Given the description of an element on the screen output the (x, y) to click on. 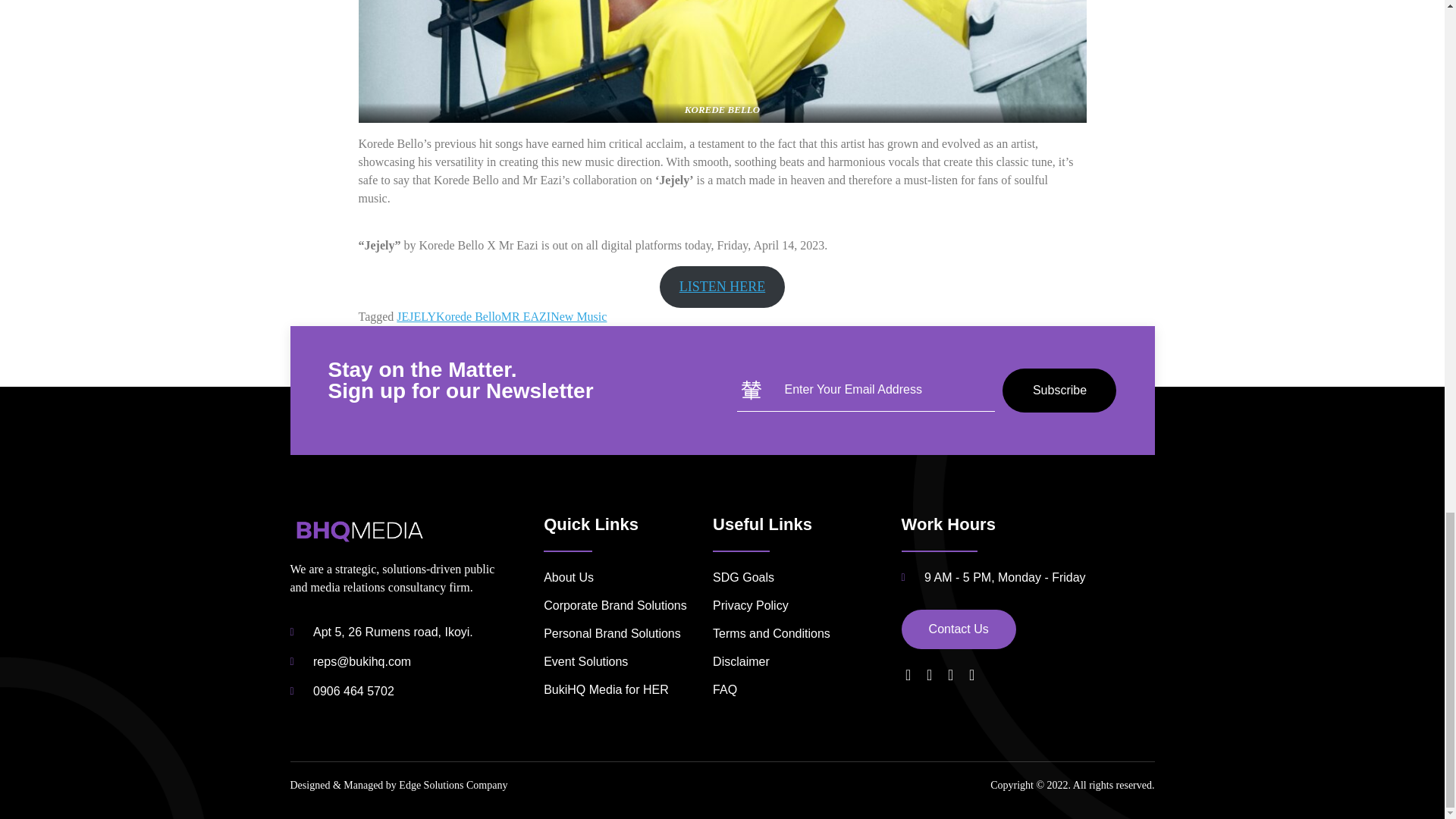
Event Solutions (623, 661)
Subscribe (1059, 390)
SDG Goals (807, 577)
BukiHQ Media for HER (623, 689)
New Music (578, 315)
MR EAZI (525, 315)
JEJELY (415, 315)
Korede Bello (467, 315)
Corporate Brand Solutions (623, 606)
Personal Brand Solutions (623, 633)
